Given the description of an element on the screen output the (x, y) to click on. 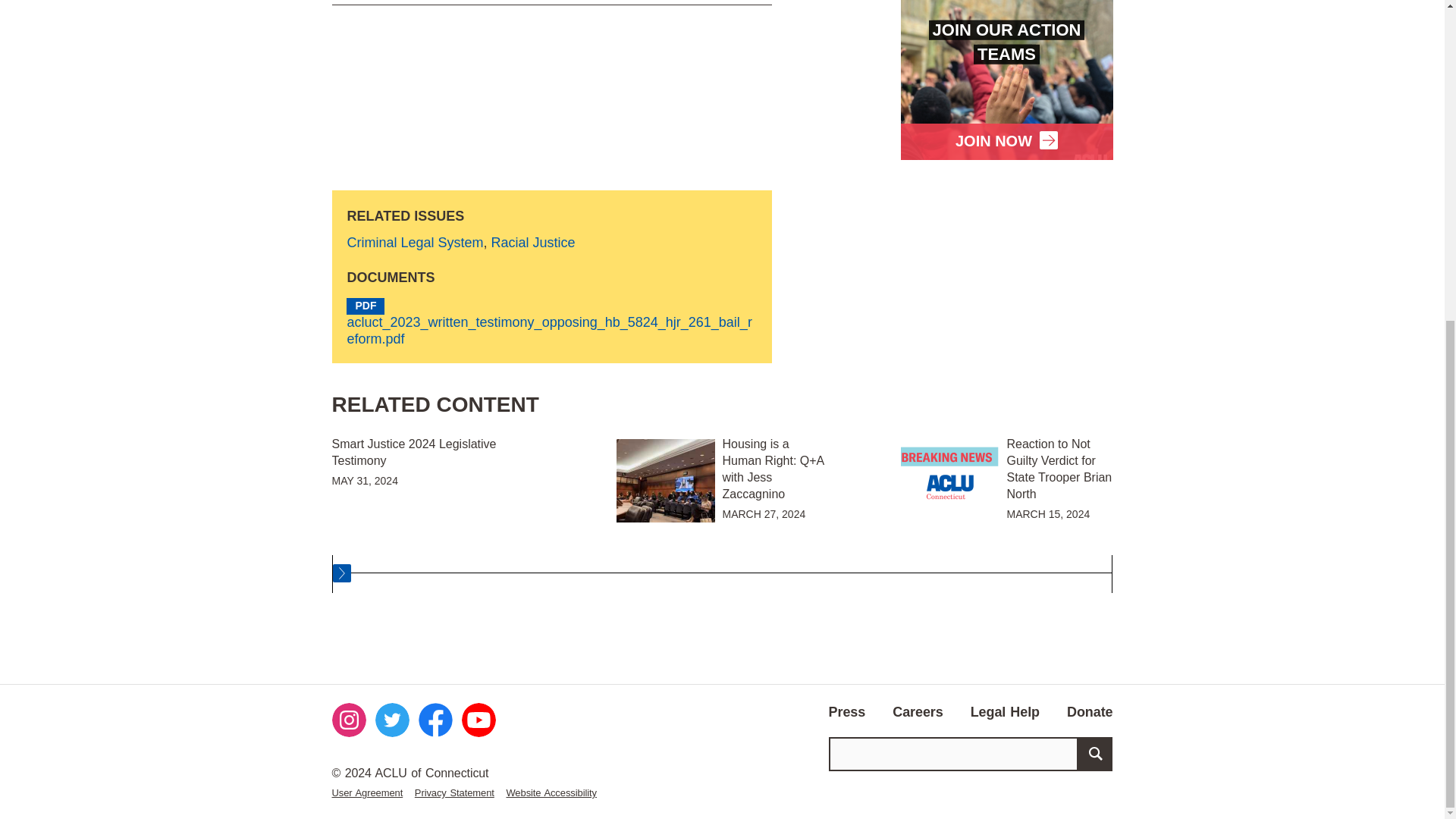
Search (1095, 754)
